Given the description of an element on the screen output the (x, y) to click on. 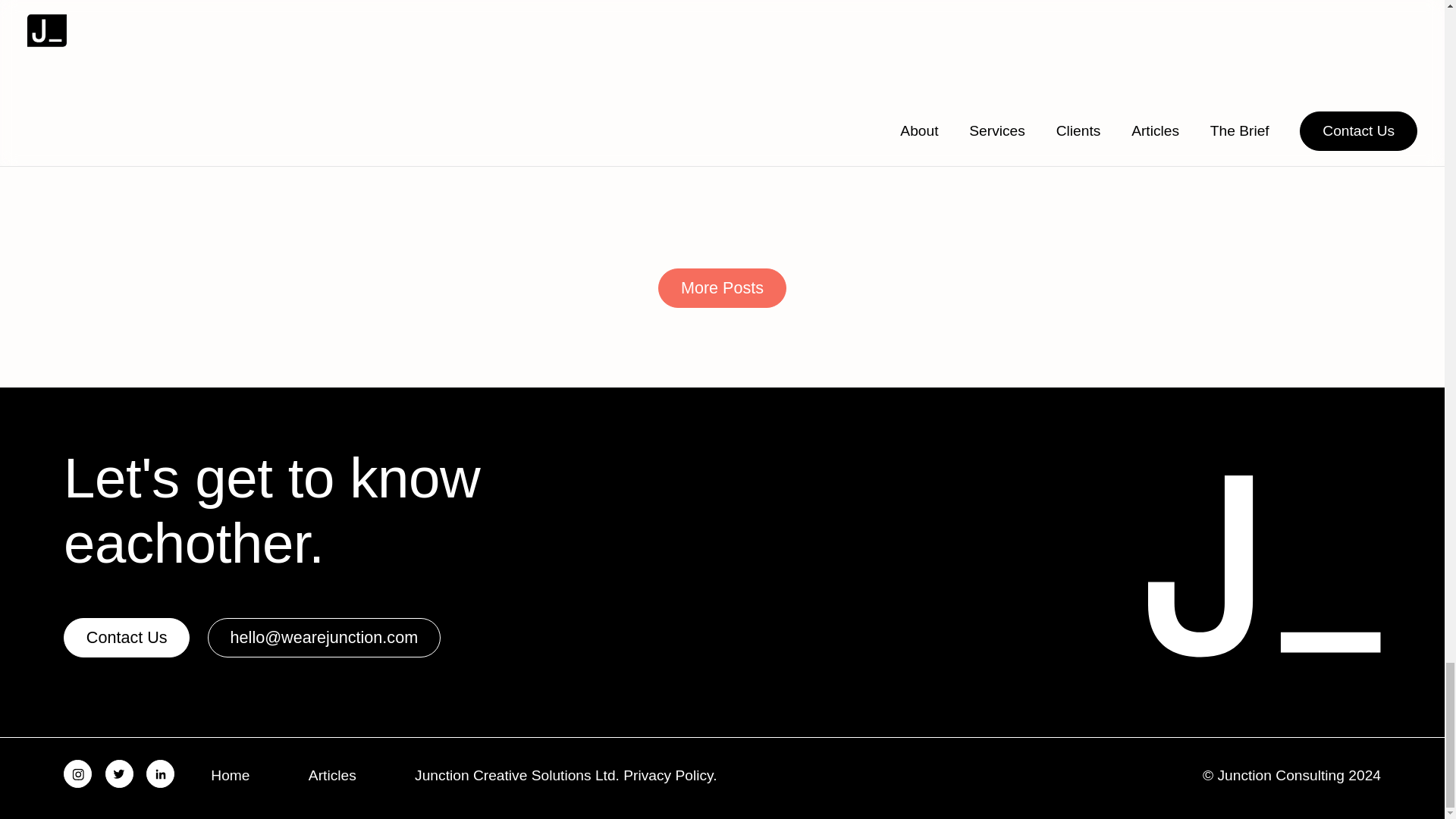
Home (229, 774)
Articles (332, 774)
More Posts (722, 287)
Junction Creative Solutions Ltd. Privacy Policy. (565, 774)
Contact Us (126, 637)
